Given the description of an element on the screen output the (x, y) to click on. 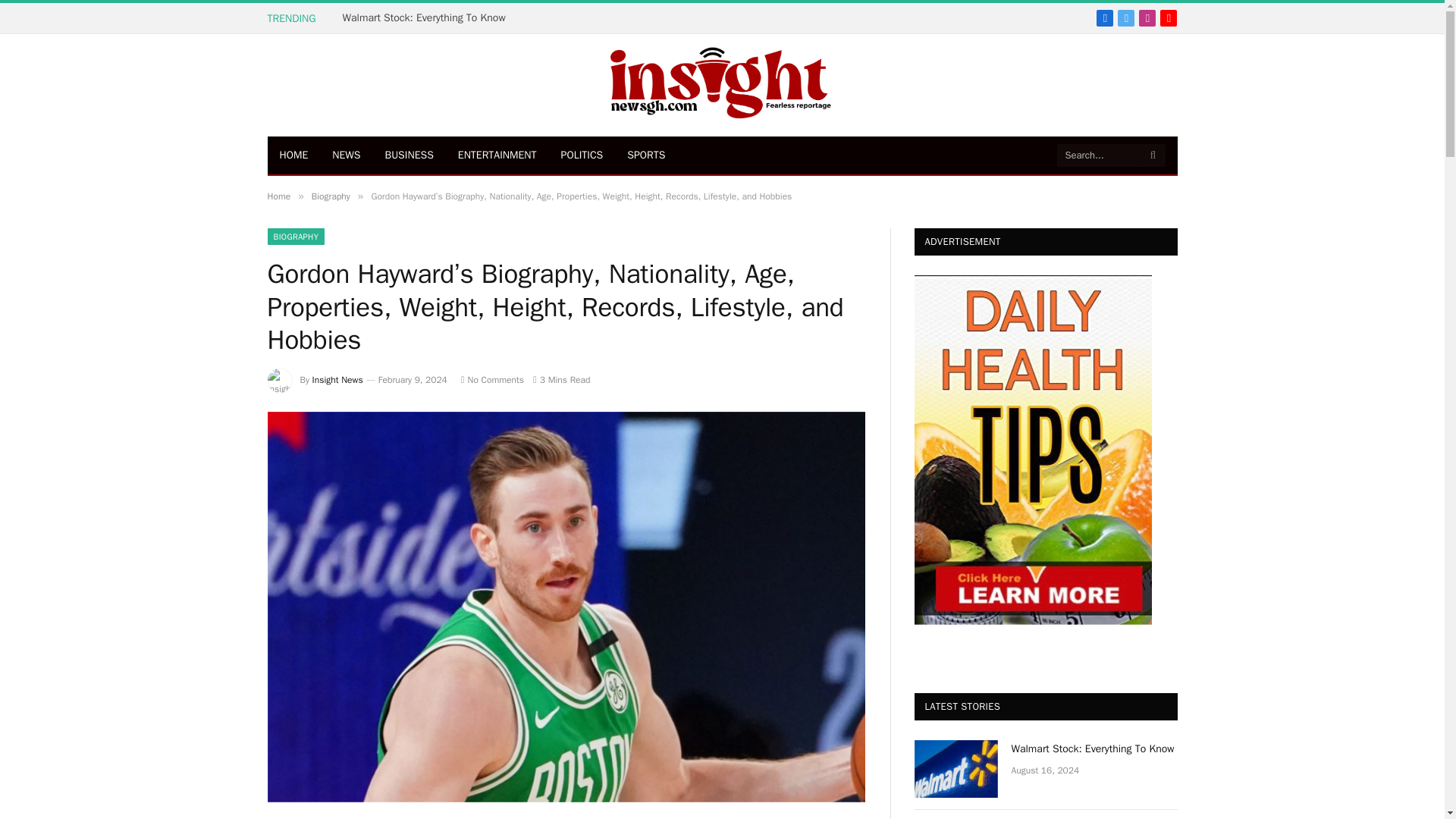
No Comments (492, 379)
Biography (330, 196)
Walmart Stock: Everything To Know (427, 18)
POLITICS (581, 155)
ENTERTAINMENT (496, 155)
YouTube (1168, 17)
Home (277, 196)
BUSINESS (408, 155)
HOME (293, 155)
Facebook (1104, 17)
